Given the description of an element on the screen output the (x, y) to click on. 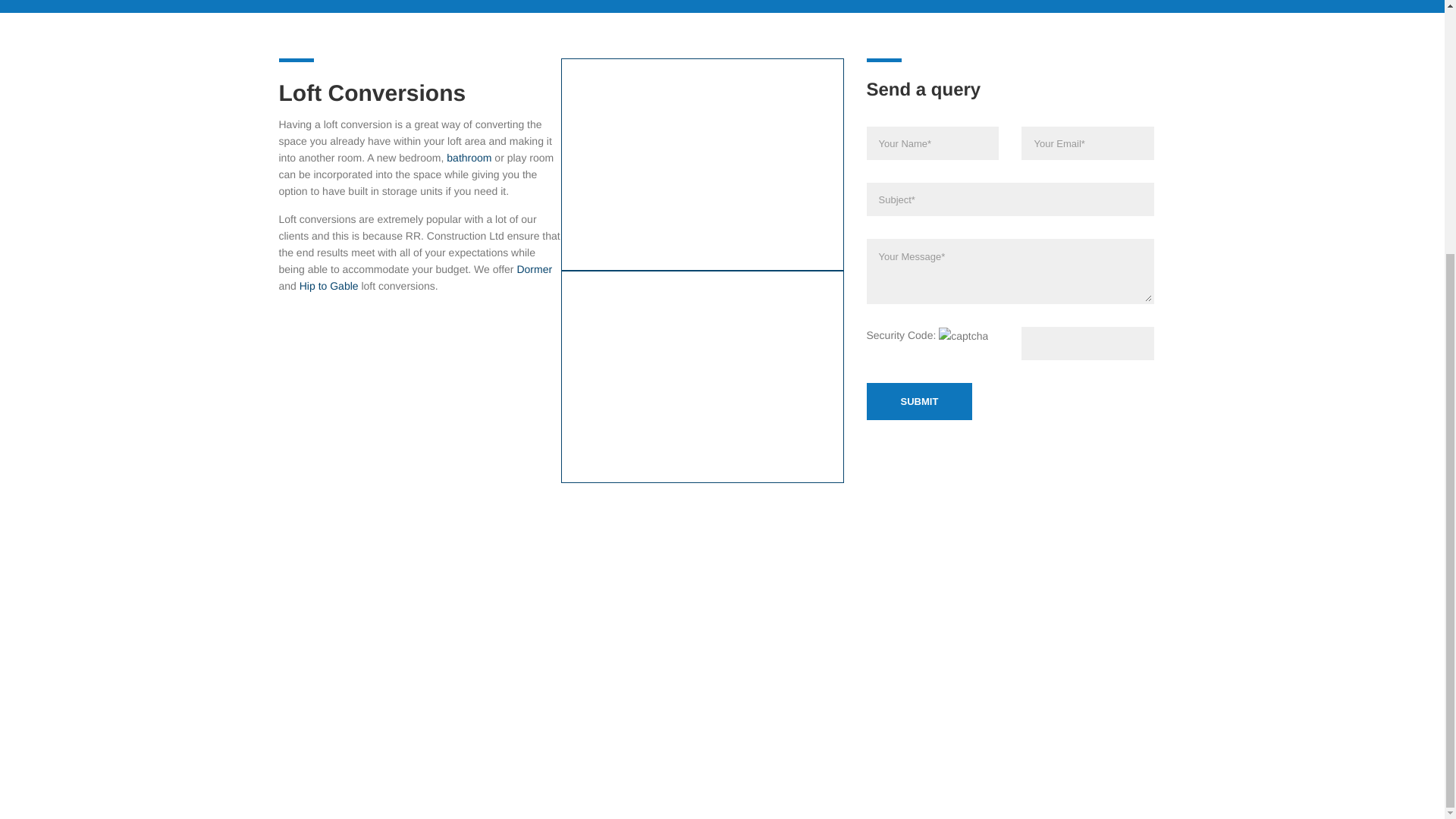
loft conversions 3 (623, 631)
loft conversions 3 (702, 377)
loft conversions 1 (702, 164)
Submit (919, 401)
loft conversions 1 (623, 552)
